Given the description of an element on the screen output the (x, y) to click on. 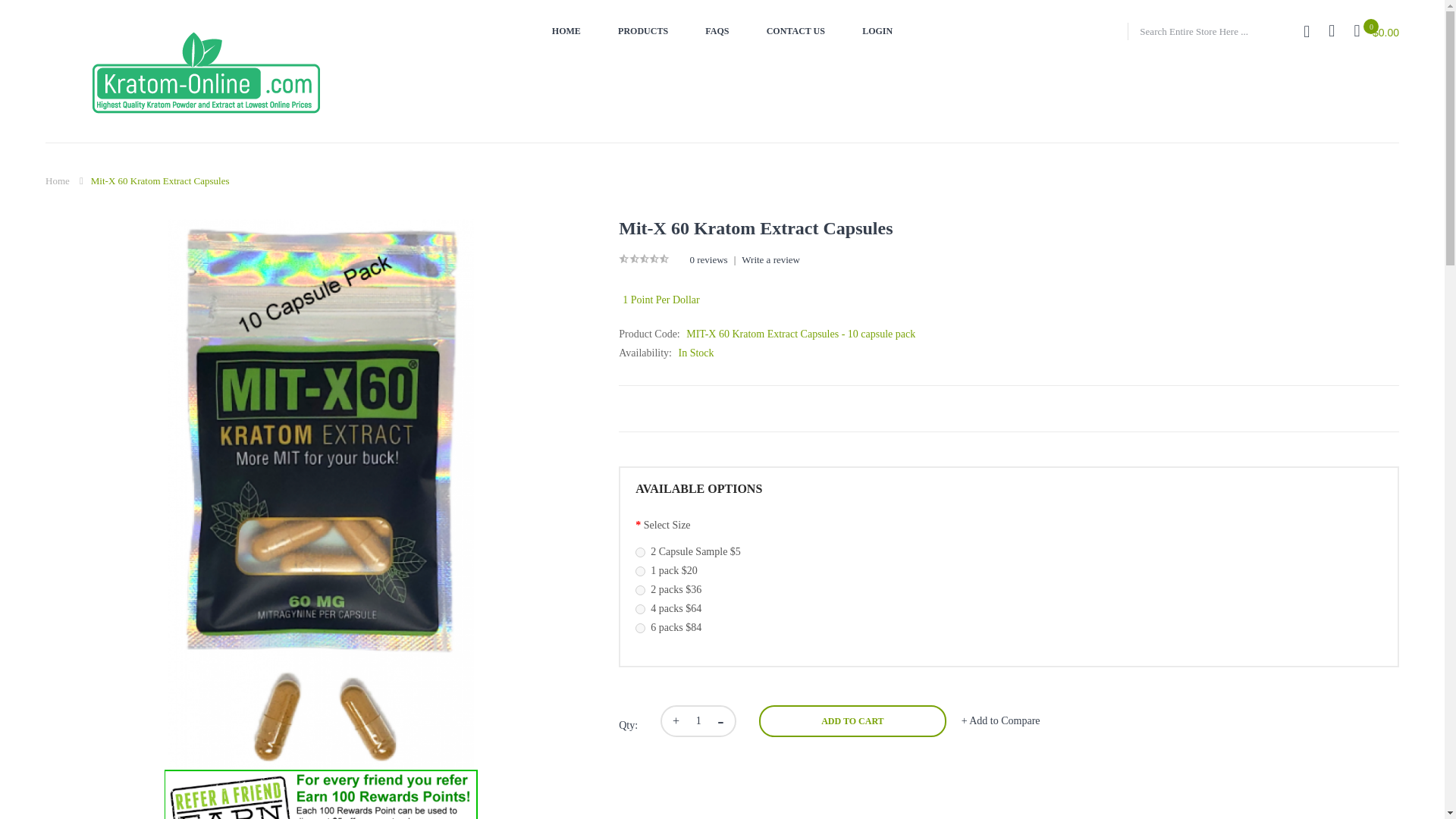
- (726, 720)
Write a review (770, 259)
LOGIN (877, 31)
0 reviews (708, 259)
Mit-X 60 Kratom Extract Capsules (160, 180)
Home (57, 180)
1 (698, 720)
CONTACT US (796, 31)
Kratom-Online (206, 77)
105 (639, 552)
HOME (566, 31)
PRODUCTS (642, 31)
ADD TO CART (851, 721)
102 (639, 590)
